Given the description of an element on the screen output the (x, y) to click on. 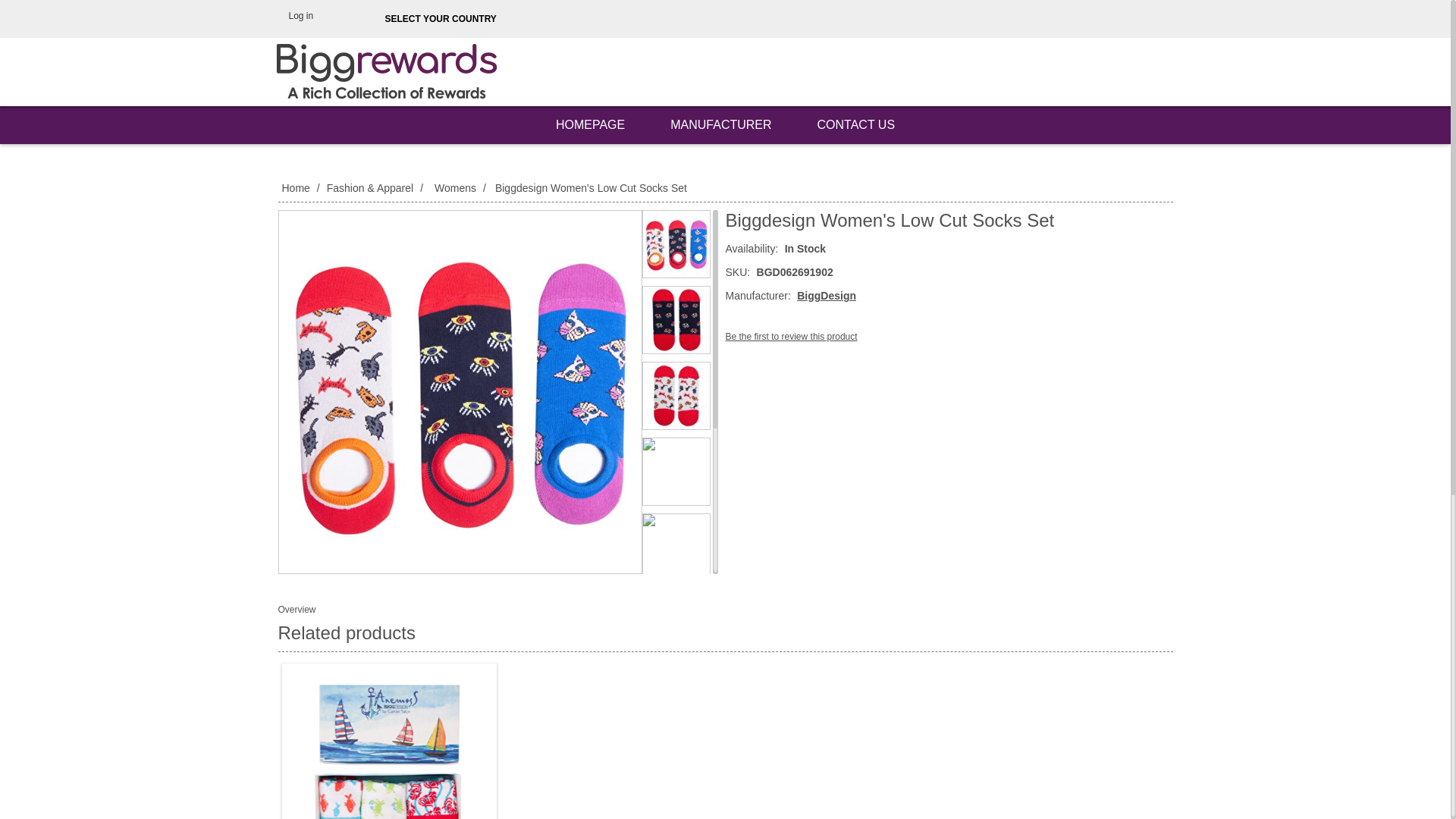
media.product.imagelinktitleformat.details (676, 243)
media.product.imagelinktitleformat.details (676, 547)
Manufacturer (720, 125)
media.product.imagelinktitleformat.details (676, 775)
Log in (293, 15)
HomePage (589, 125)
media.product.imagelinktitleformat.details (676, 698)
SELECT YOUR COUNTRY (440, 19)
media.product.imagelinktitleformat.details (676, 471)
media.product.imagelinktitleformat.details (676, 622)
